Given the description of an element on the screen output the (x, y) to click on. 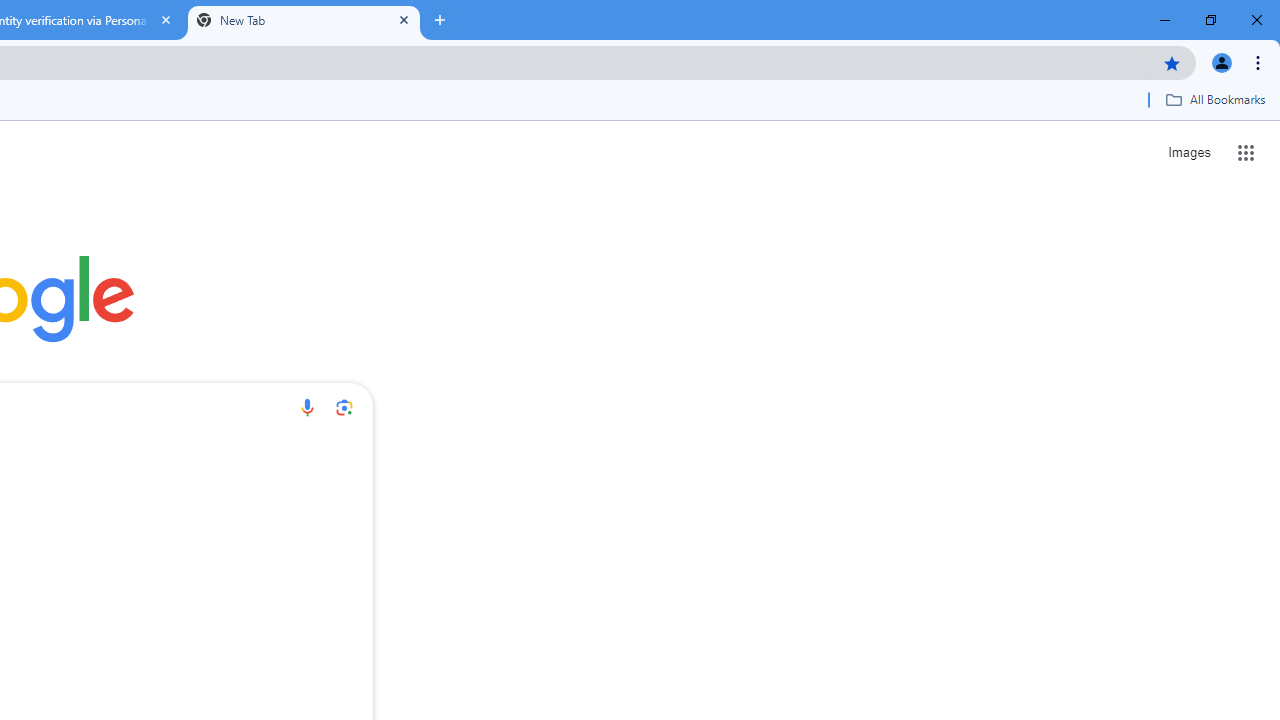
New Tab (304, 20)
Search for Images  (1188, 152)
Google apps (1245, 152)
Search by voice (307, 407)
All Bookmarks (1215, 99)
Search by image (344, 407)
